Given the description of an element on the screen output the (x, y) to click on. 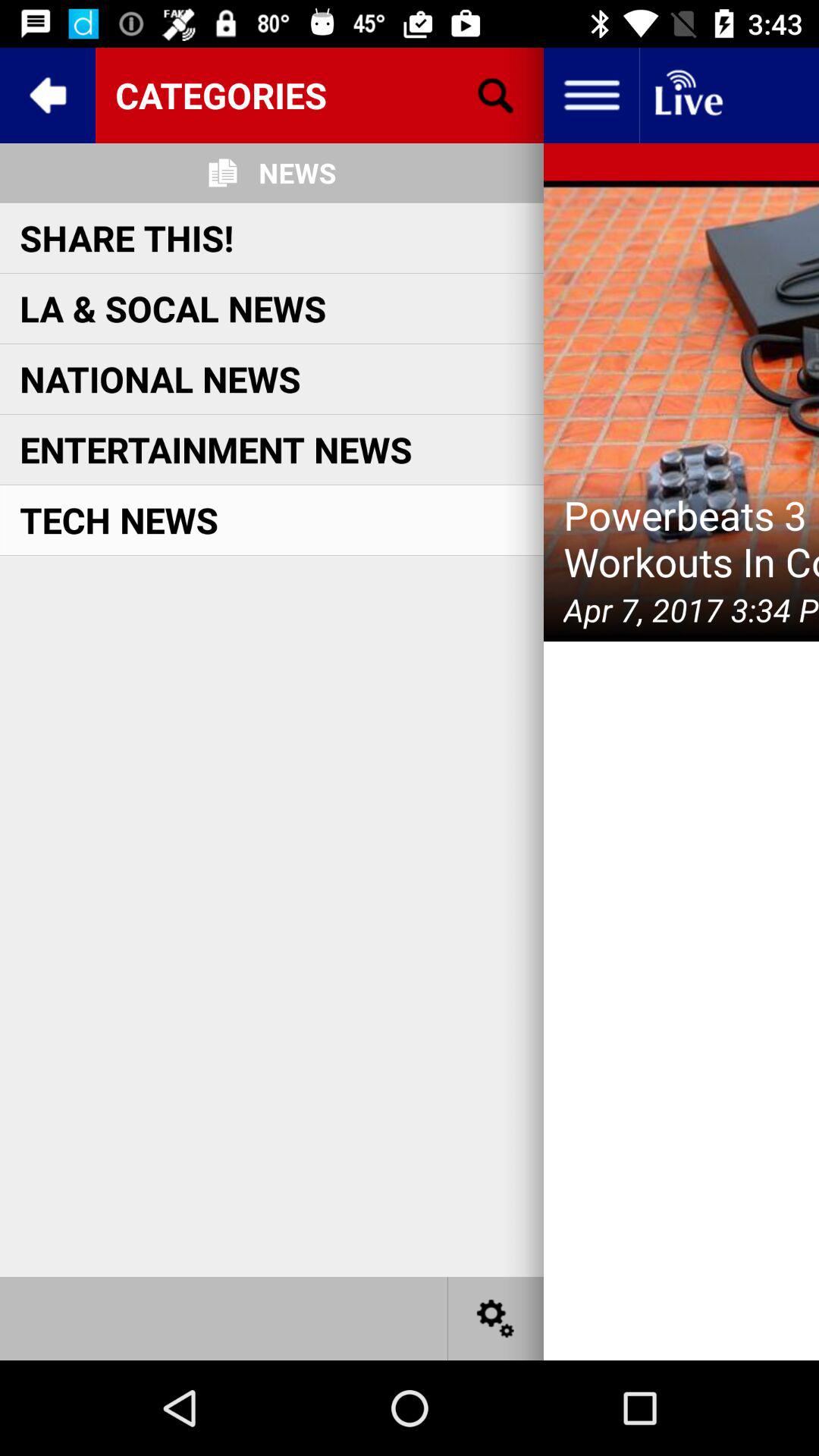
turn off the share this! item (126, 237)
